Given the description of an element on the screen output the (x, y) to click on. 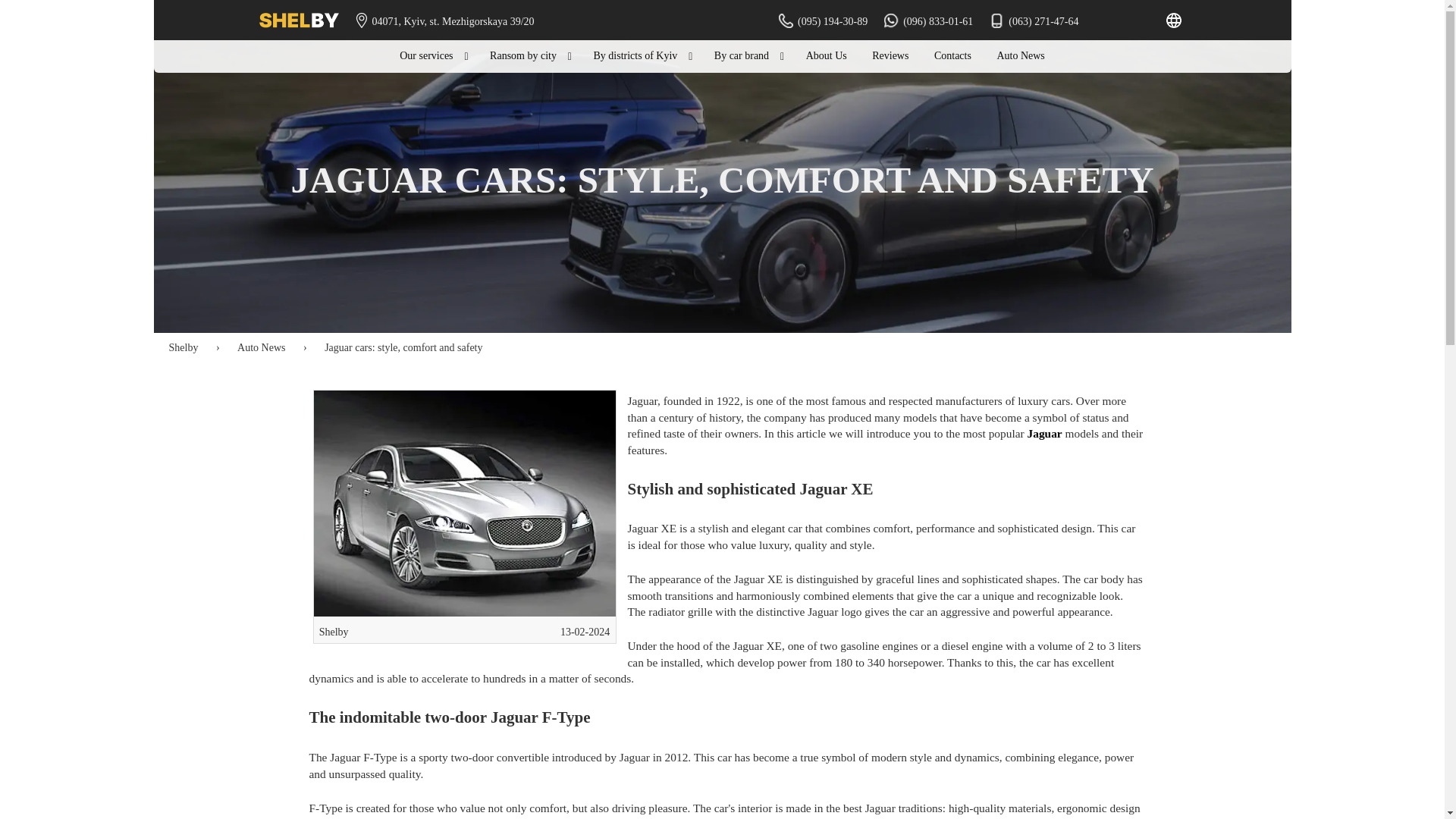
By districts of Kyiv (640, 56)
Our services (432, 56)
Ransom by city (529, 56)
